Given the description of an element on the screen output the (x, y) to click on. 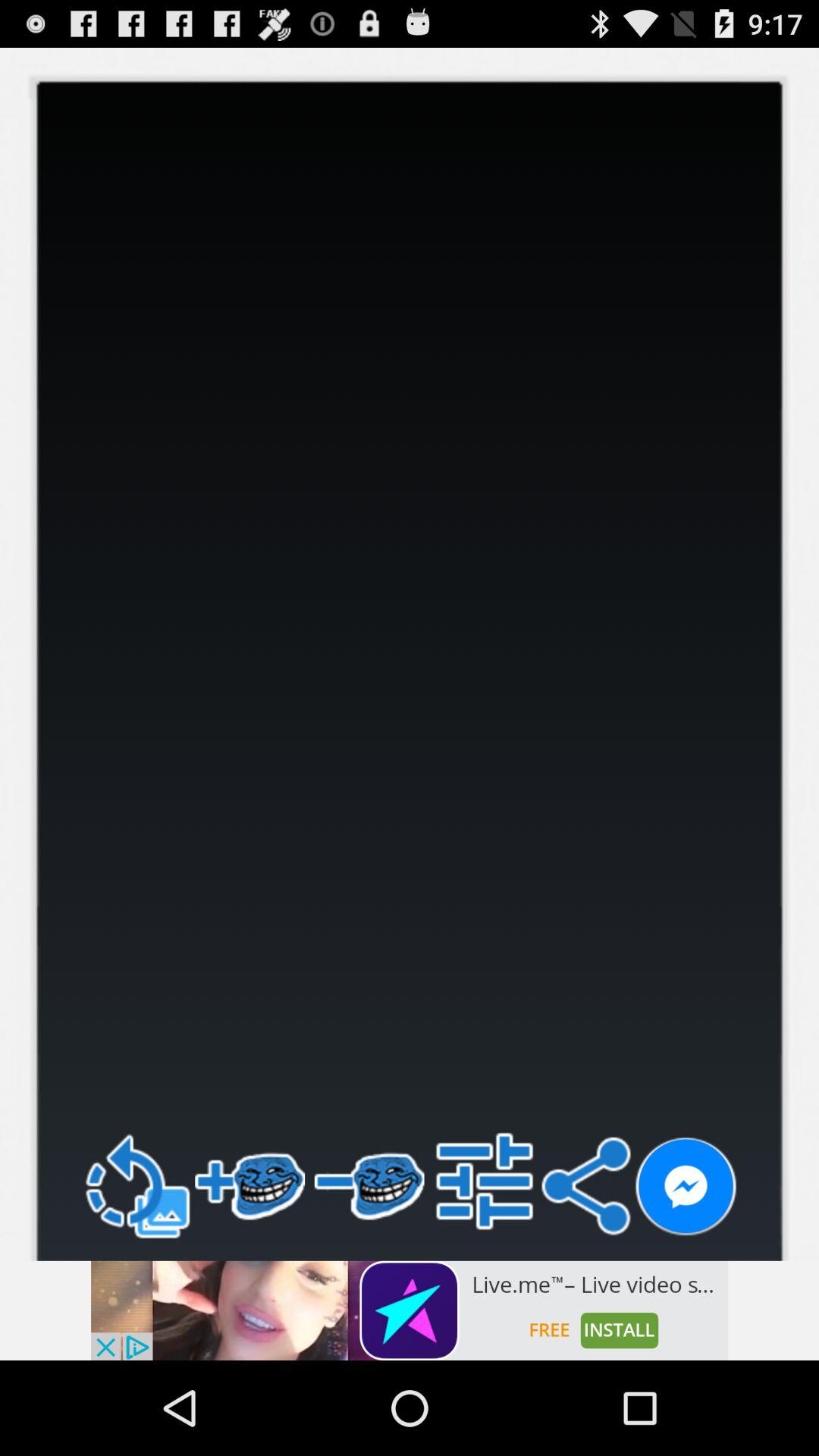
switch autoplay option (685, 1187)
